Given the description of an element on the screen output the (x, y) to click on. 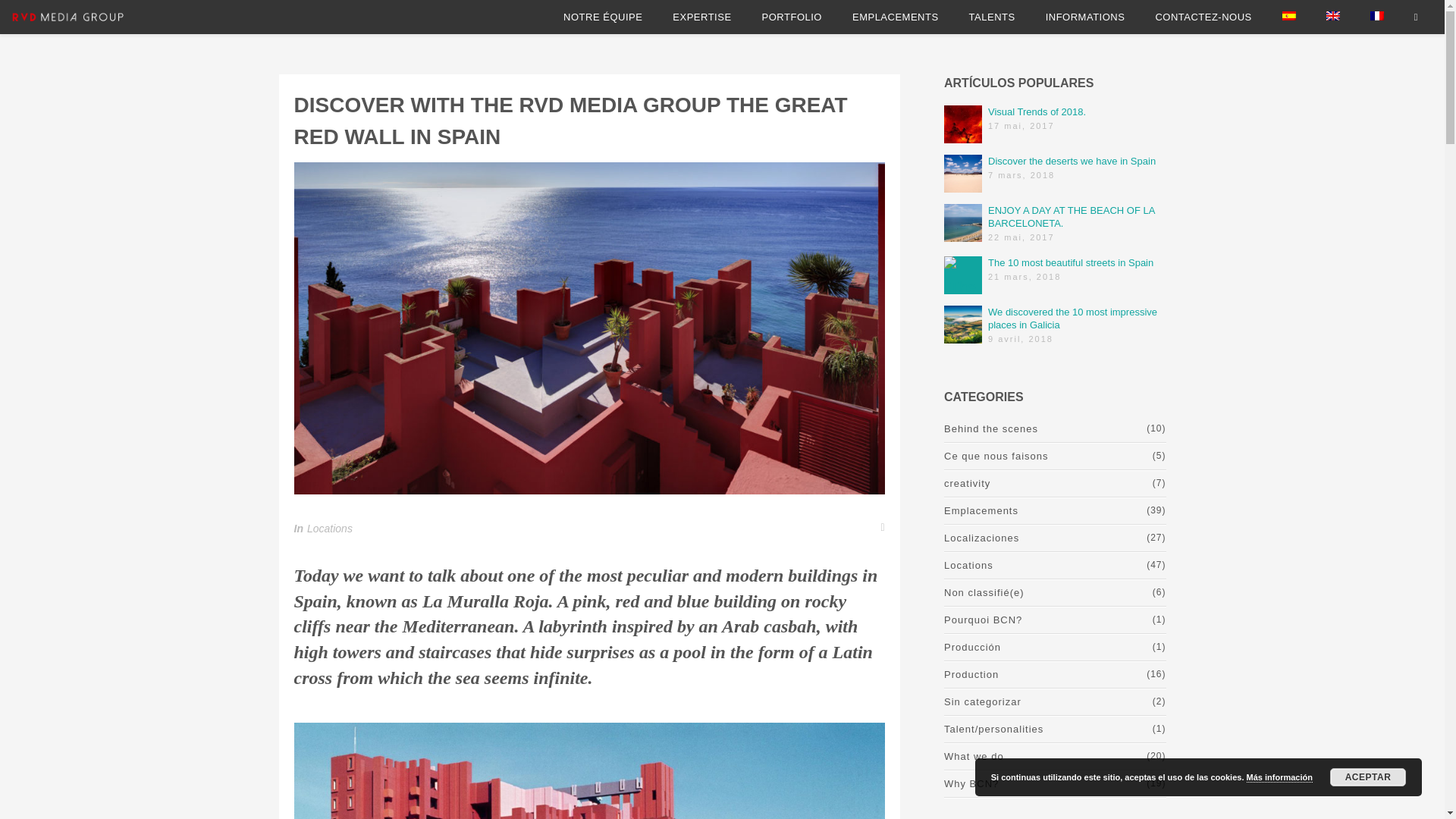
English (1332, 14)
Locations (329, 528)
